Given the description of an element on the screen output the (x, y) to click on. 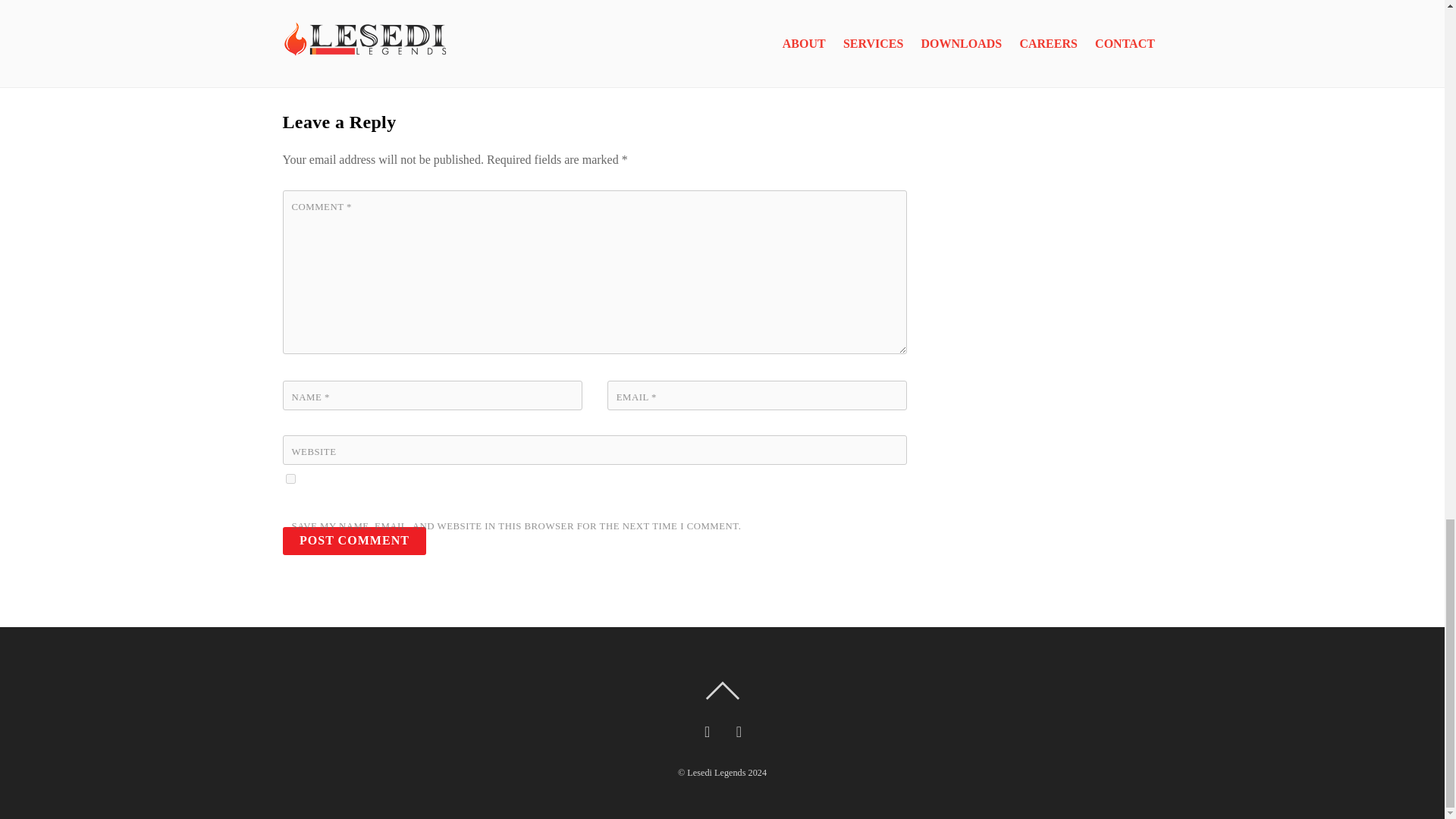
Post Comment (354, 541)
Lesedi Legends (716, 772)
Looking for Installment Loans with Direct Lenders? (444, 13)
Post Comment (354, 541)
yes (290, 479)
